Given the description of an element on the screen output the (x, y) to click on. 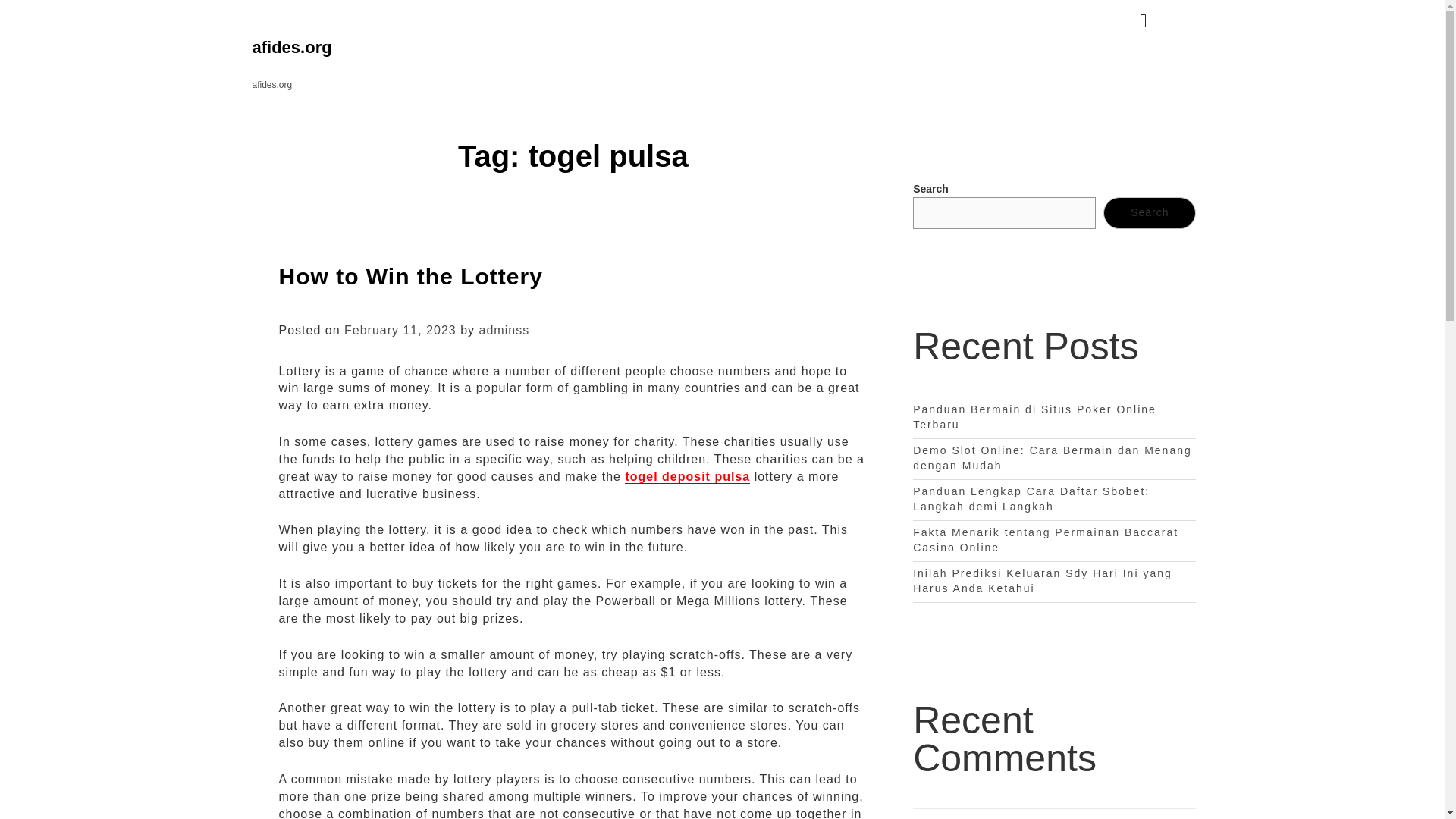
How to Win the Lottery (411, 276)
Fakta Menarik tentang Permainan Baccarat Casino Online (1044, 539)
afides.org (291, 46)
togel deposit pulsa (686, 477)
February 11, 2023 (400, 329)
Search (1149, 213)
Panduan Bermain di Situs Poker Online Terbaru (1034, 416)
Demo Slot Online: Cara Bermain dan Menang dengan Mudah (1052, 457)
adminss (504, 329)
Panduan Lengkap Cara Daftar Sbobet: Langkah demi Langkah (1031, 498)
